Given the description of an element on the screen output the (x, y) to click on. 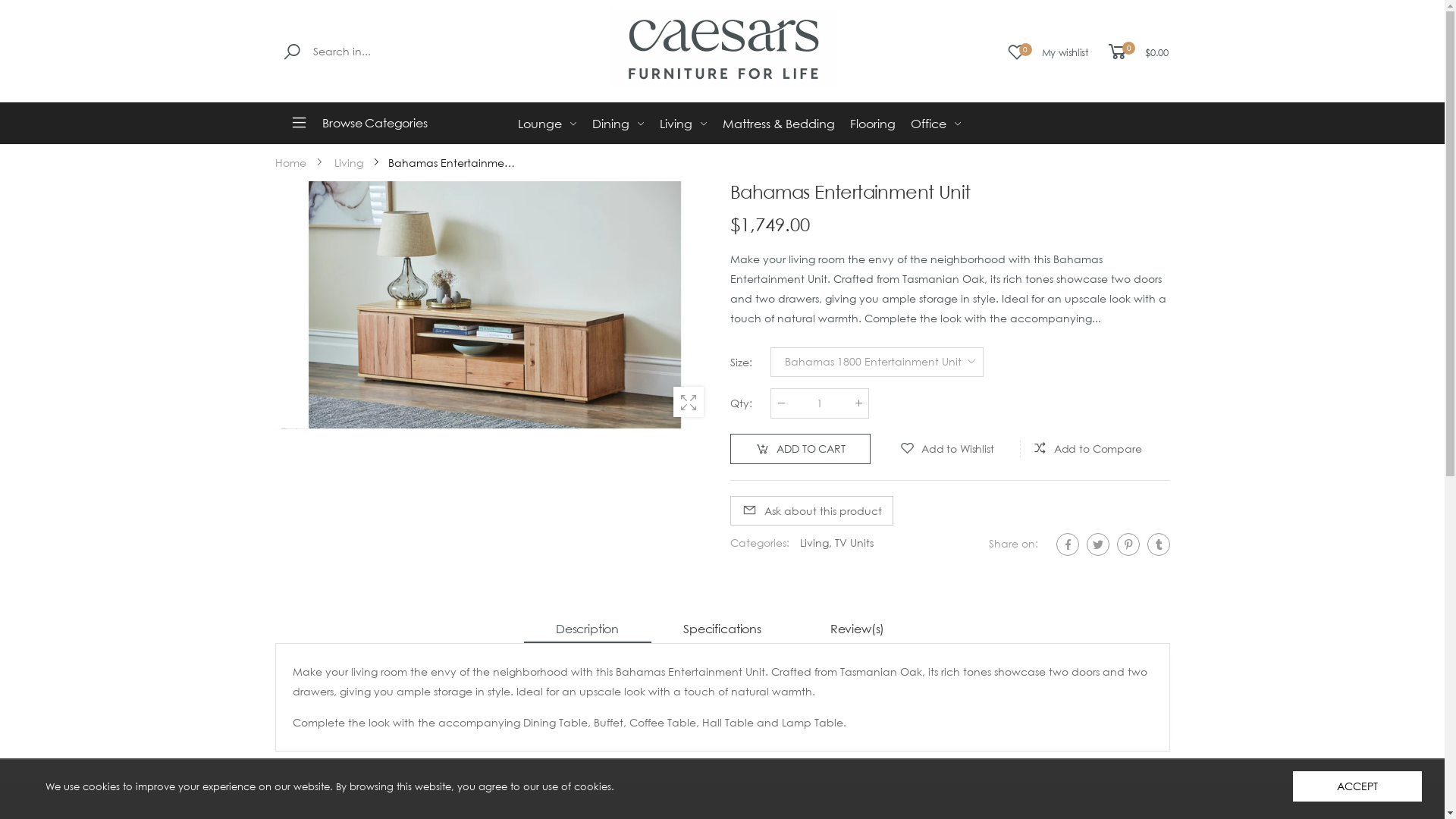
Office Element type: text (935, 123)
Add to Wishlist Element type: text (946, 448)
Dining Element type: text (617, 123)
Browse Categories Element type: text (376, 123)
Specifications Element type: text (721, 629)
Qty Element type: hover (819, 403)
0
My wishlist Element type: text (1047, 51)
TV Units Element type: text (853, 542)
Living Element type: text (813, 542)
Review(s) Element type: text (856, 629)
Add to Compare Element type: text (1086, 448)
Mattress & Bedding Element type: text (777, 123)
Lounge Element type: text (546, 123)
Description Element type: text (586, 629)
Living Element type: text (347, 162)
ACCEPT Element type: text (1356, 786)
Flooring Element type: text (871, 123)
0
$0.00 Element type: text (1136, 51)
Home Element type: text (289, 162)
Ask about this product Element type: text (810, 510)
ADD TO CART Element type: text (799, 448)
Living Element type: text (683, 123)
